Given the description of an element on the screen output the (x, y) to click on. 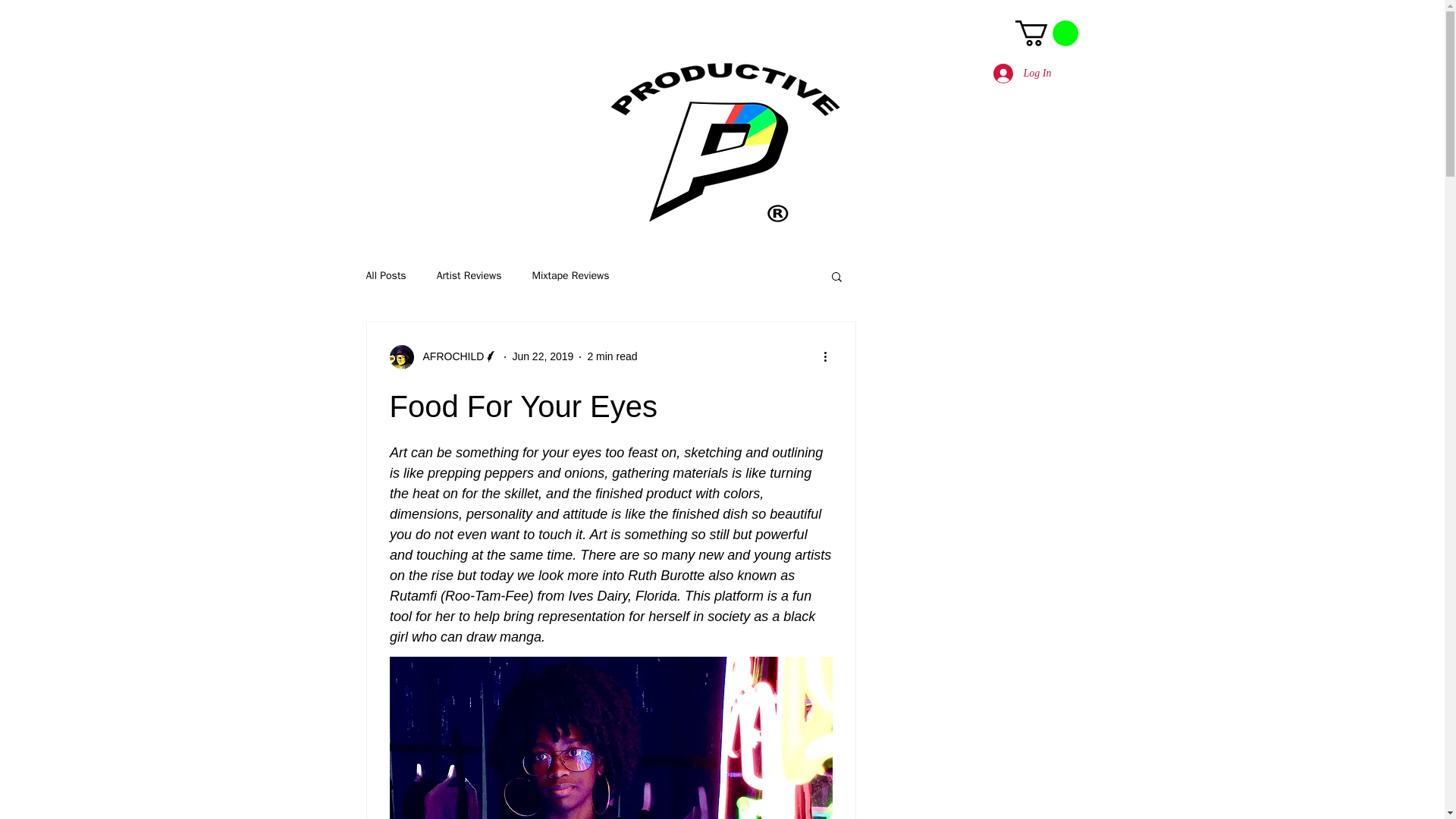
Jun 22, 2019 (542, 356)
AFROCHILD (448, 356)
Mixtape Reviews (569, 275)
2 min read (611, 356)
AFROCHILD (444, 356)
Log In (1022, 72)
Artist Reviews (469, 275)
All Posts (385, 275)
